Given the description of an element on the screen output the (x, y) to click on. 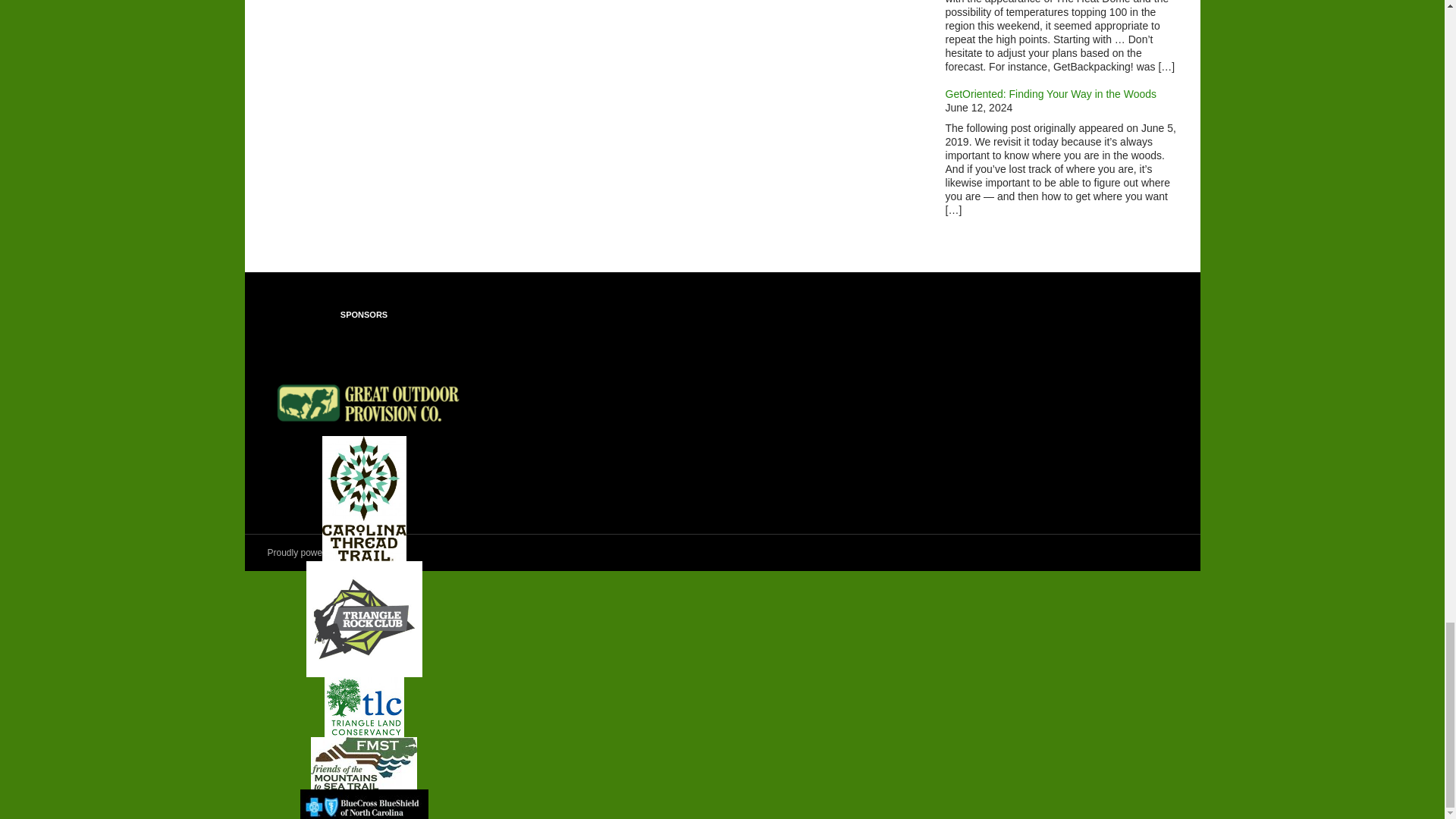
tlc2007logo (364, 707)
-2 (363, 763)
